Given the description of an element on the screen output the (x, y) to click on. 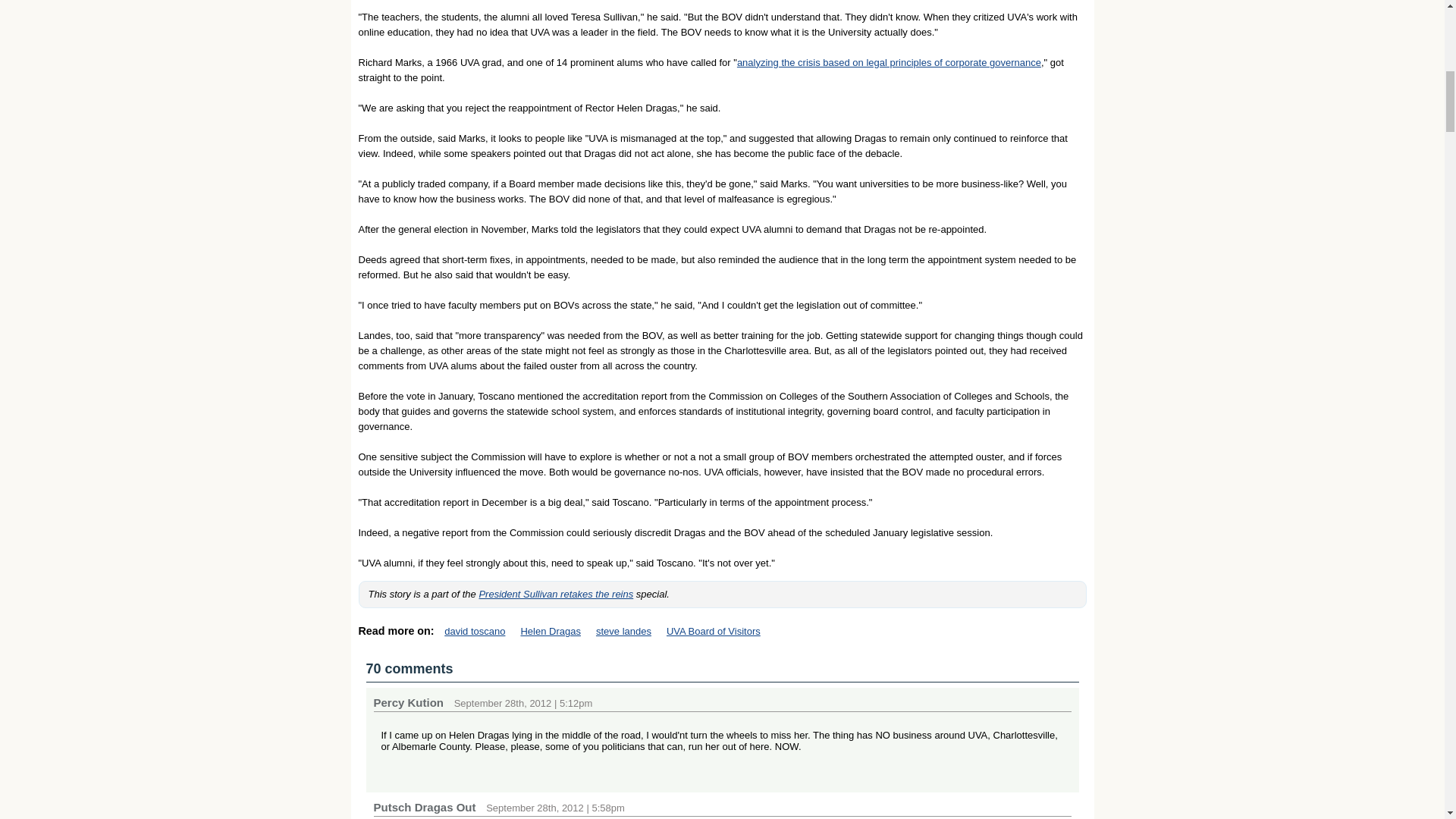
UVA Board of Visitors (713, 631)
david toscano (474, 631)
steve landes (622, 631)
President Sullivan retakes the reins (556, 593)
Helen Dragas (549, 631)
